Given the description of an element on the screen output the (x, y) to click on. 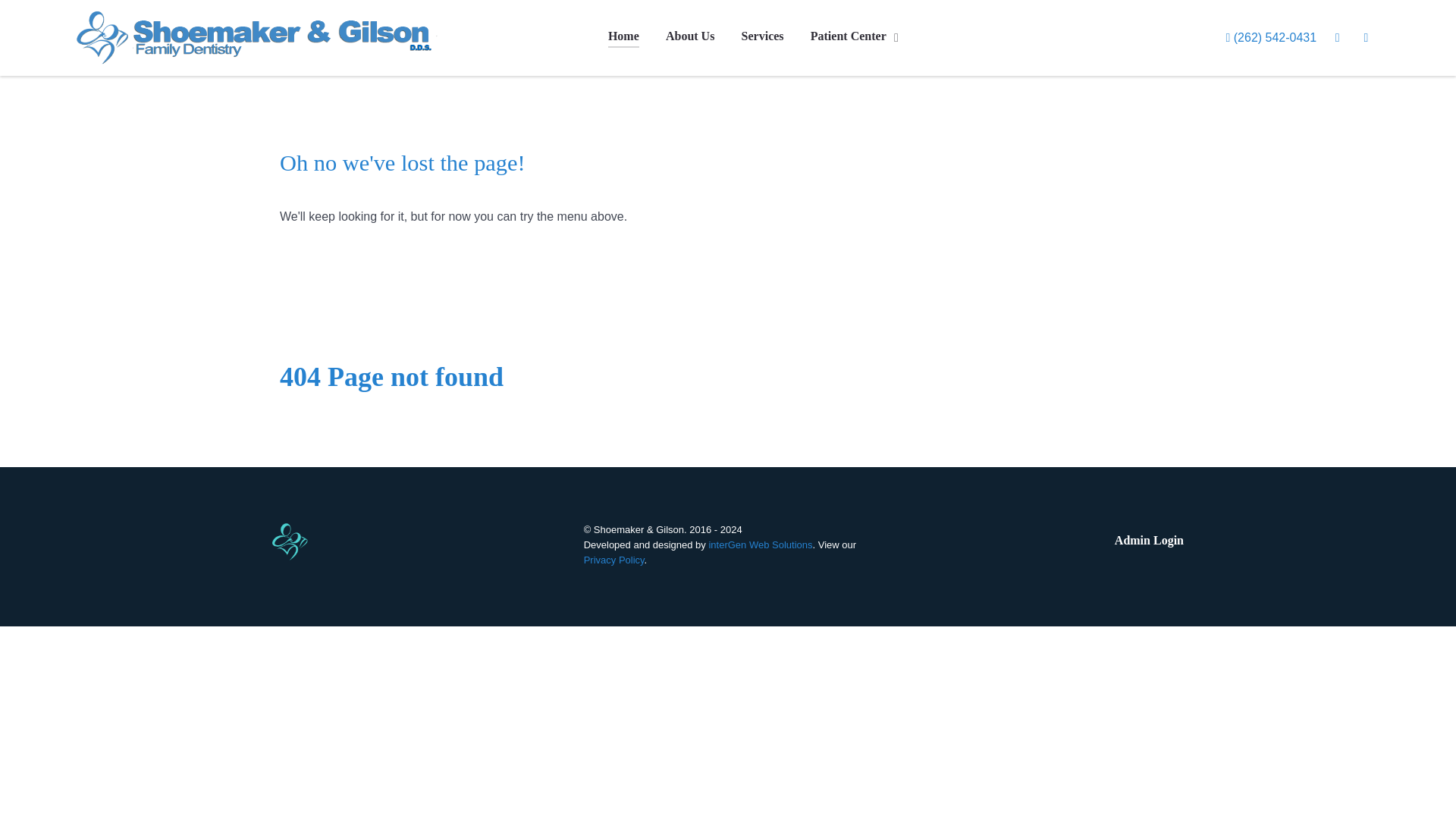
Patient Center (855, 37)
About Us (689, 37)
Home (623, 37)
Facebook (1366, 36)
Admin Login (1149, 543)
Phone link (1272, 36)
interGen Web Solutions (759, 544)
Instagram (1339, 36)
Privacy Policy (614, 559)
Services (762, 37)
Admin Login (1149, 543)
